Given the description of an element on the screen output the (x, y) to click on. 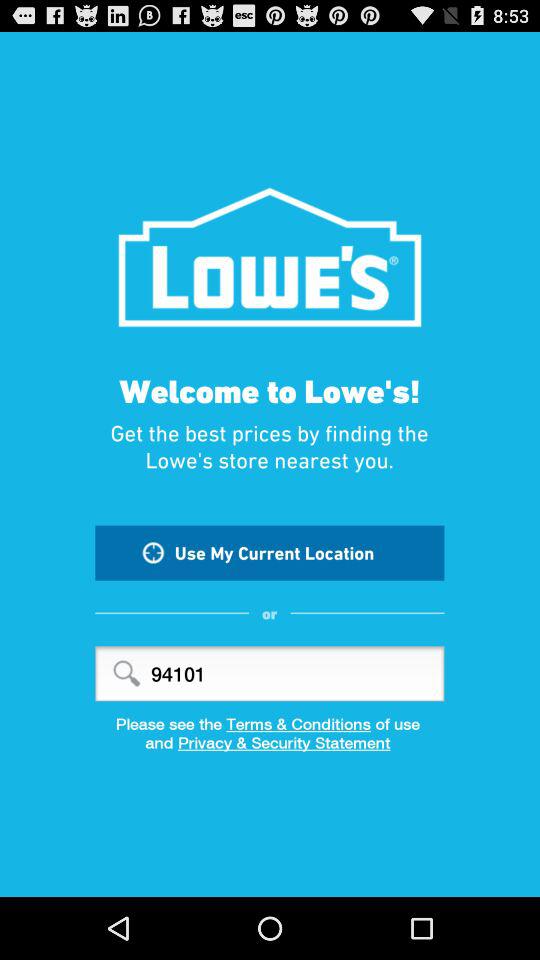
select icon below the or item (269, 673)
